Given the description of an element on the screen output the (x, y) to click on. 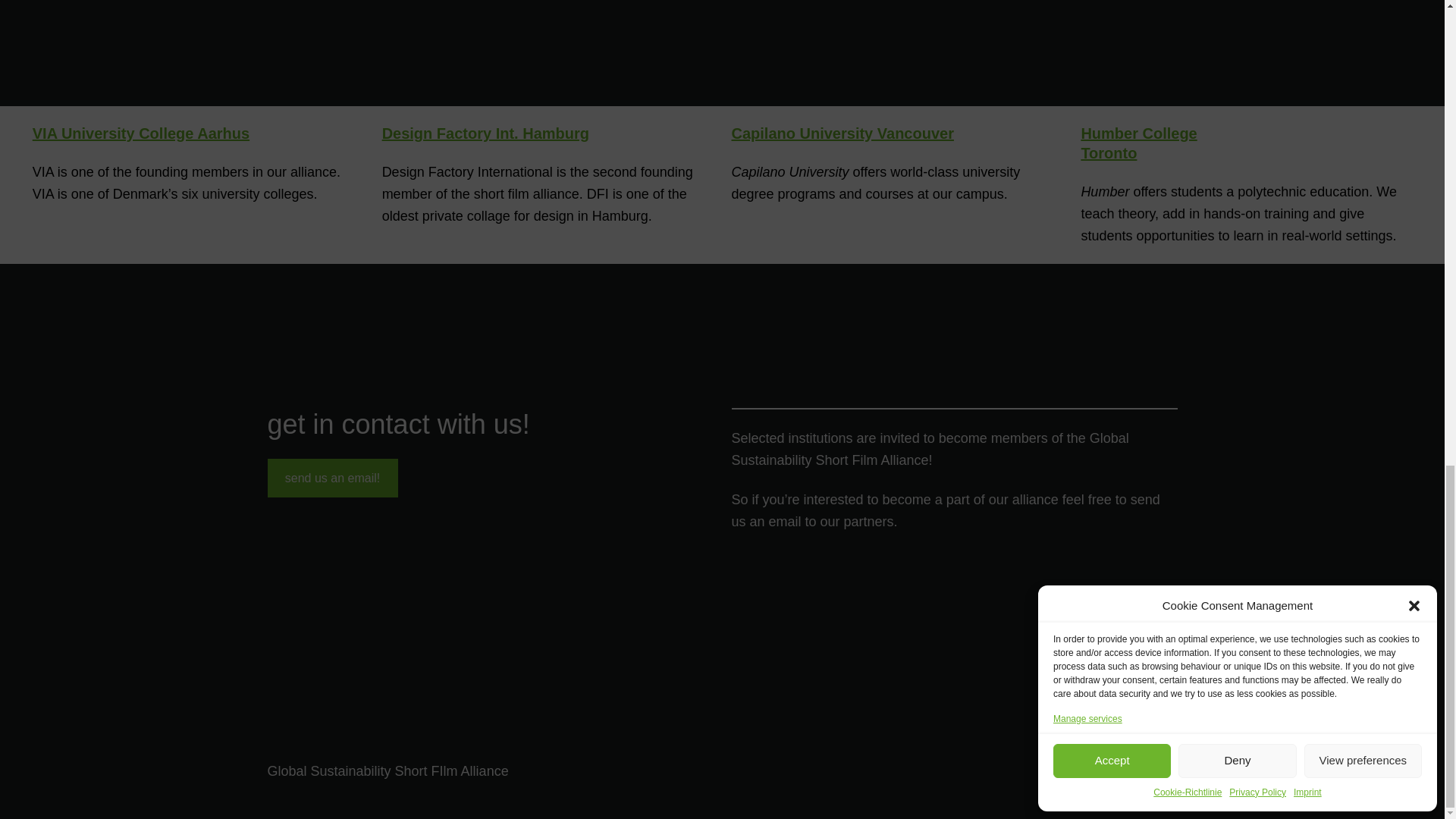
imprint (1155, 770)
VIA University College Aarhus (140, 133)
send us an email! (331, 477)
Global Sustainability Short FIlm Alliance (387, 770)
Design Factory Int. Hamburg (485, 133)
Capilano University Vancouver (841, 133)
Toronto (1108, 152)
Humber College (1138, 133)
